Given the description of an element on the screen output the (x, y) to click on. 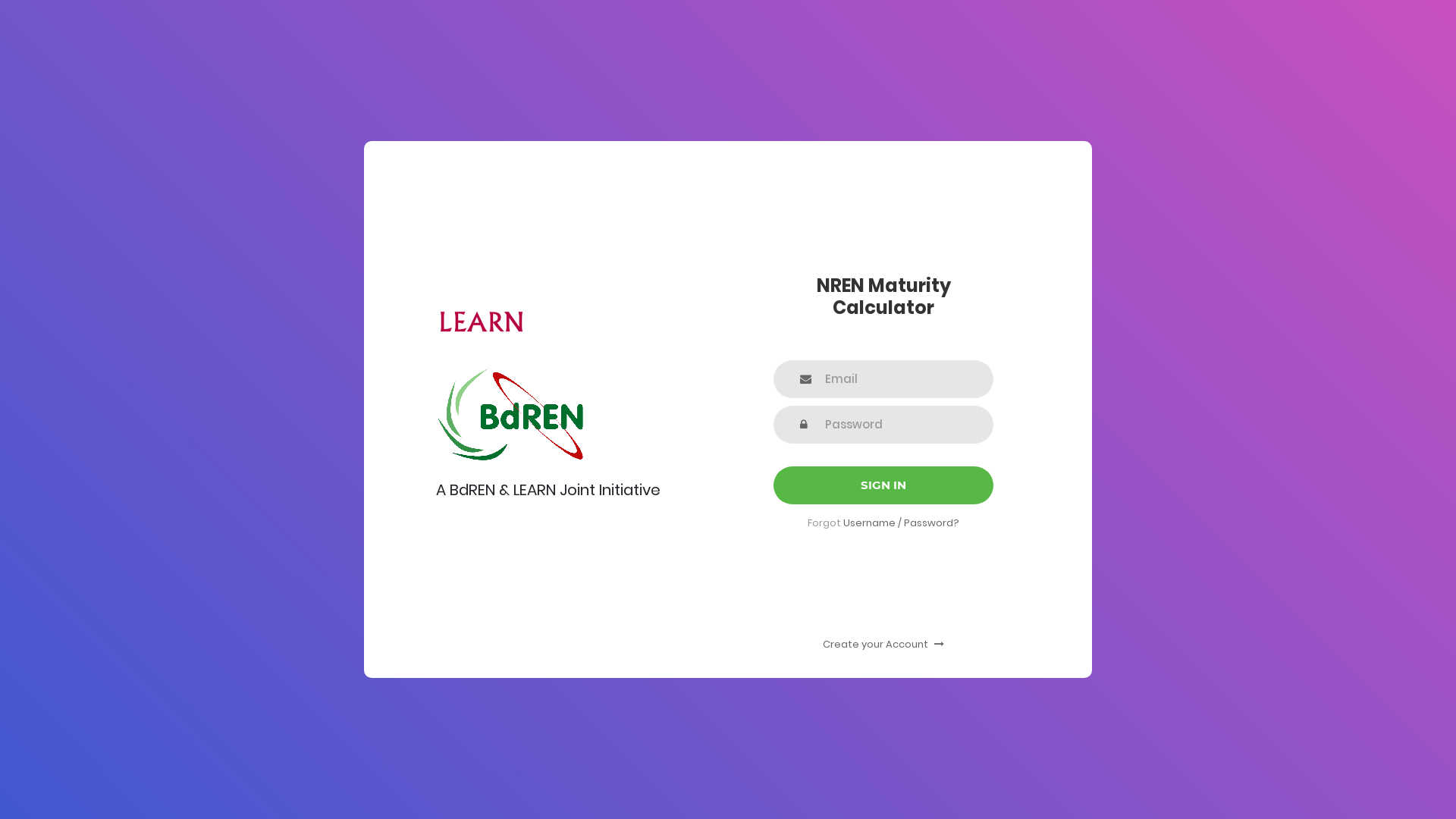
Username / Password? Element type: text (901, 522)
Create your Account Element type: text (883, 644)
SIGN IN Element type: text (883, 485)
